Given the description of an element on the screen output the (x, y) to click on. 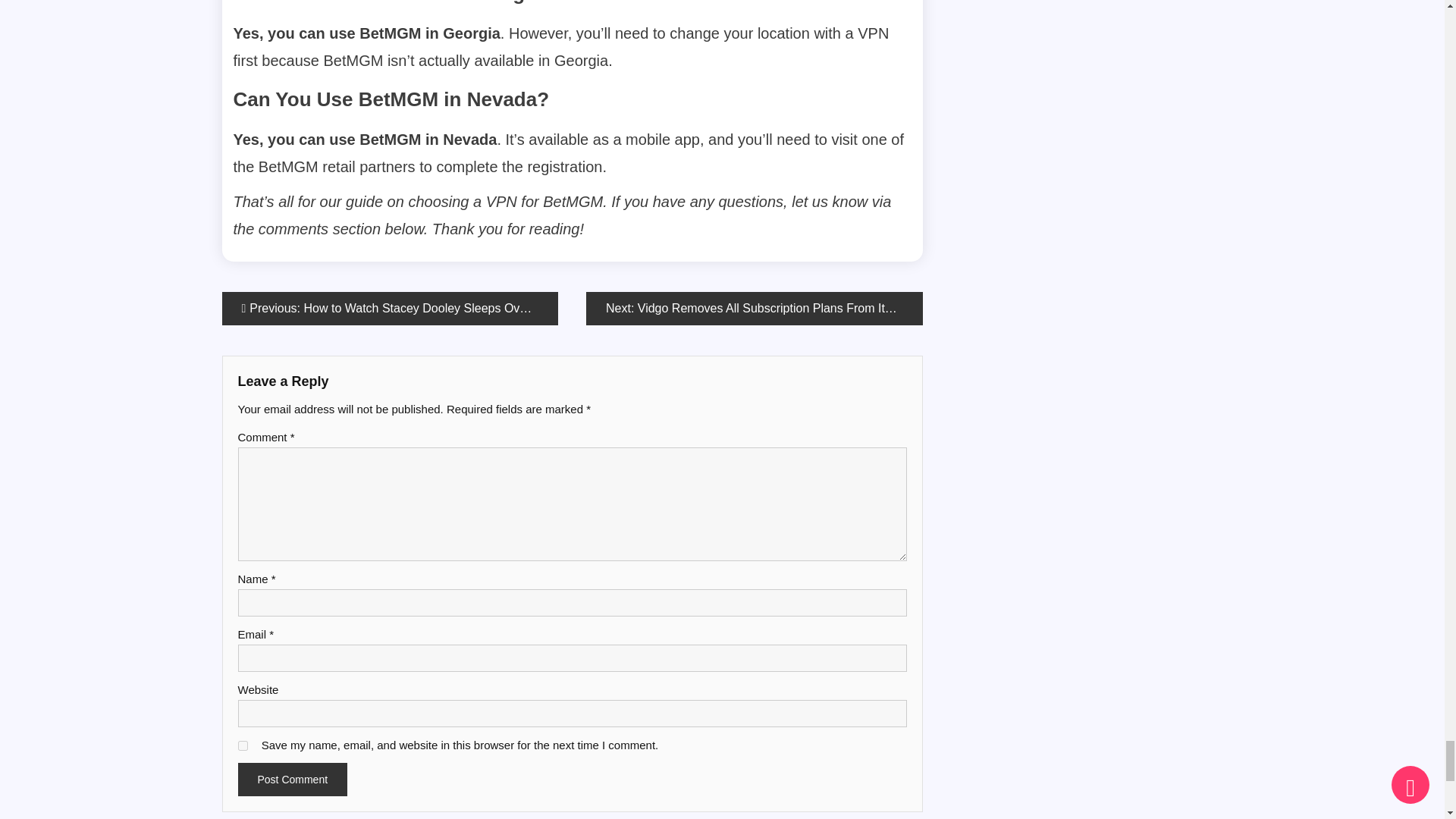
yes (242, 746)
Post Comment (292, 779)
Next: Vidgo Removes All Subscription Plans From Its Website (754, 308)
Post Comment (292, 779)
